Given the description of an element on the screen output the (x, y) to click on. 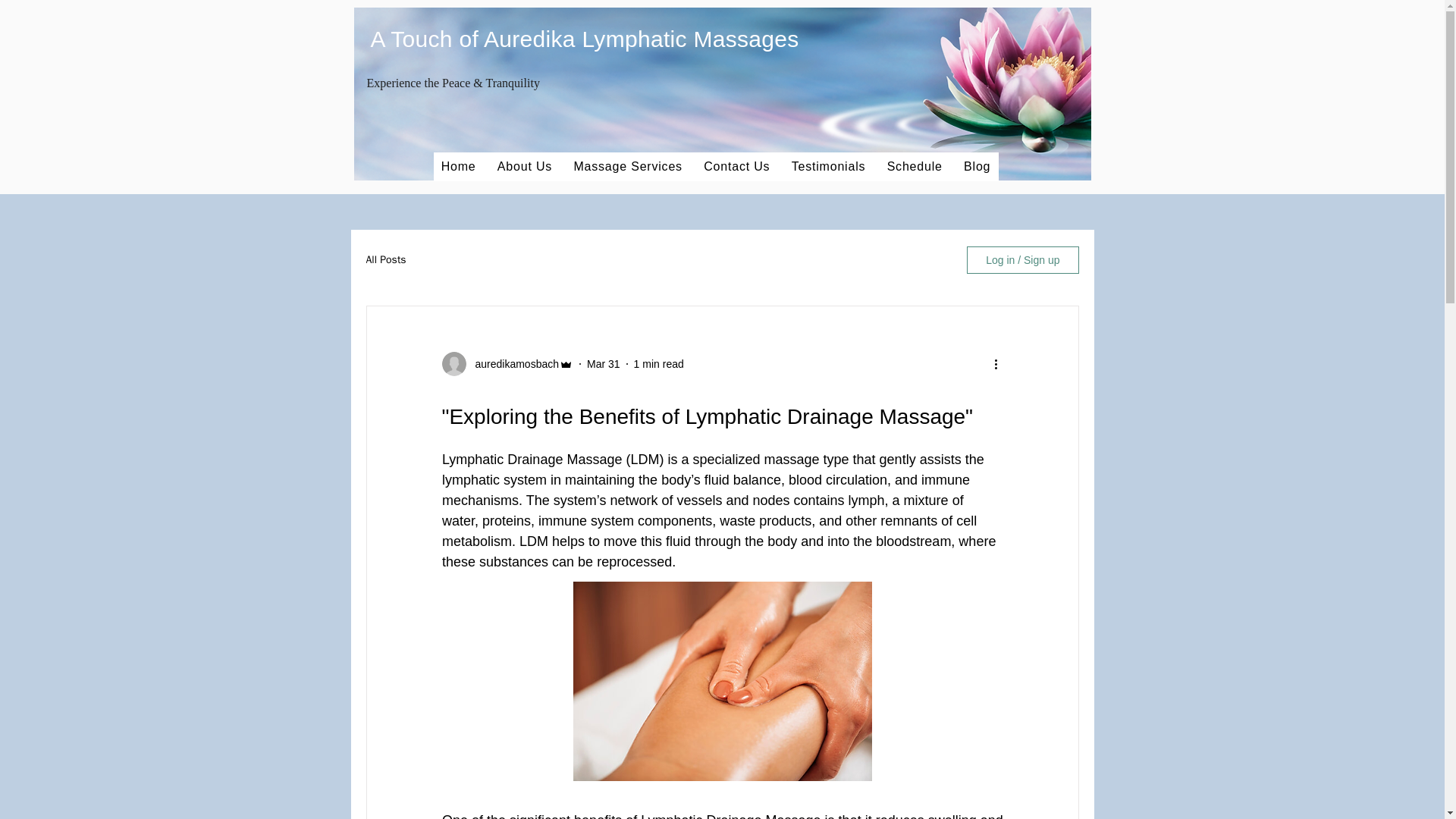
Massage Services (628, 166)
Mar 31 (603, 363)
Testimonials (828, 166)
Home (458, 166)
Schedule (914, 166)
Contact Us (736, 166)
Blog (977, 166)
auredikamosbach (512, 364)
1 min read (658, 363)
All Posts (385, 259)
